Given the description of an element on the screen output the (x, y) to click on. 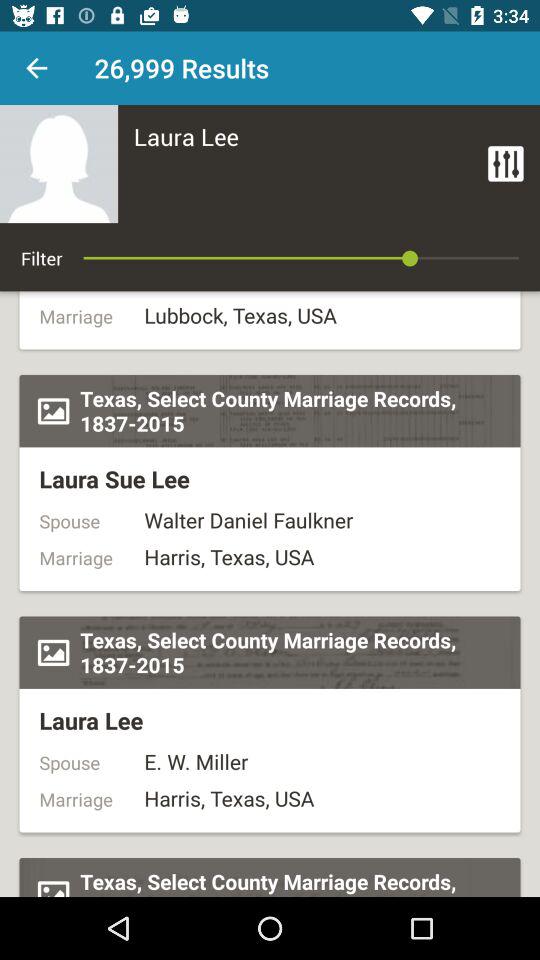
go to previous screen (36, 68)
